Given the description of an element on the screen output the (x, y) to click on. 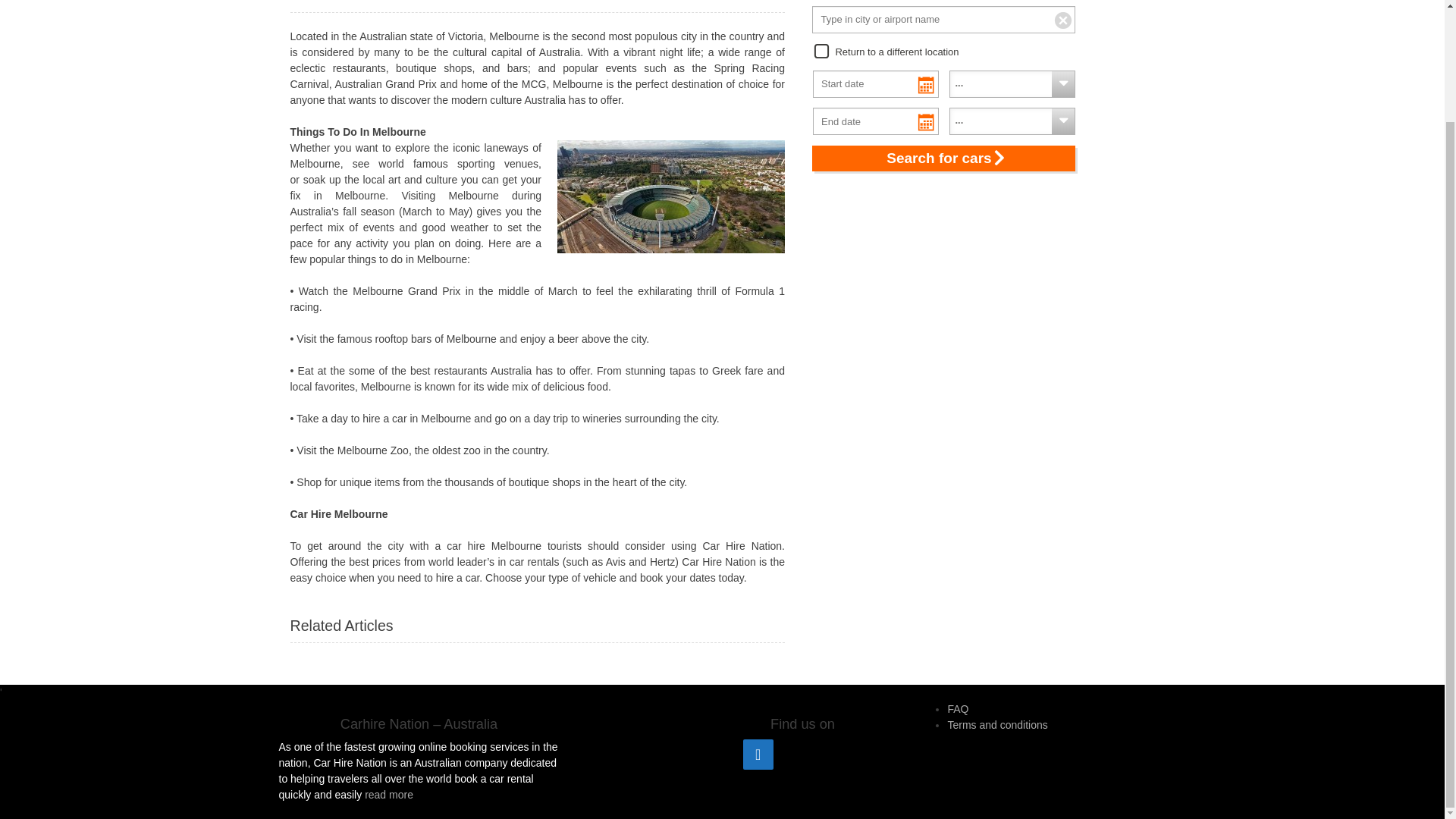
Facebook (757, 754)
FAQ (957, 708)
Terms and conditions (996, 725)
read more (389, 794)
Search for cars (943, 158)
